Given the description of an element on the screen output the (x, y) to click on. 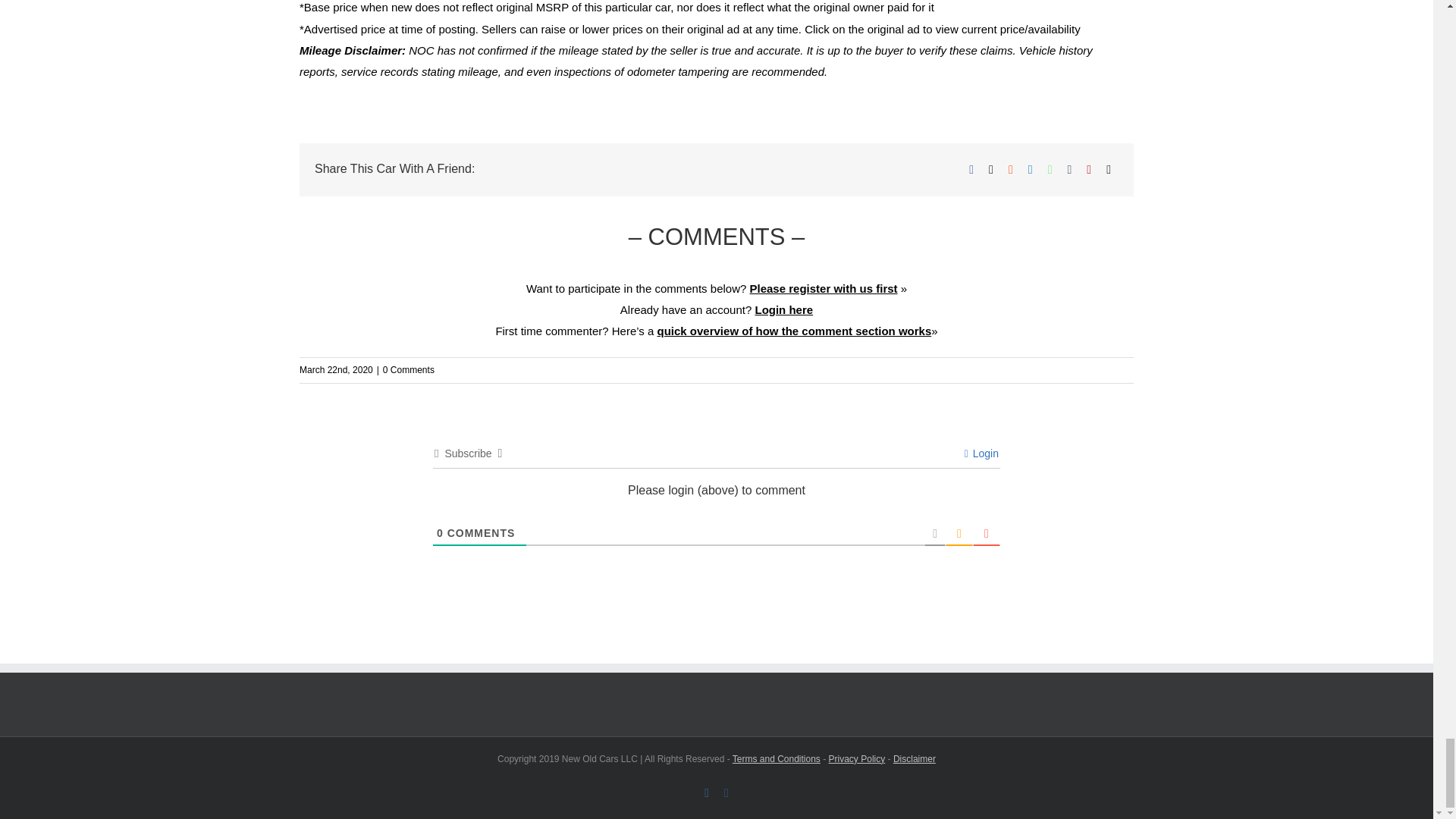
0 Comments (407, 369)
Share This Car With A Friend: (716, 146)
Already have an account? Login here (716, 309)
Login (980, 453)
Terms and Conditions (776, 758)
Disclaimer (914, 758)
Privacy Policy (856, 758)
